Given the description of an element on the screen output the (x, y) to click on. 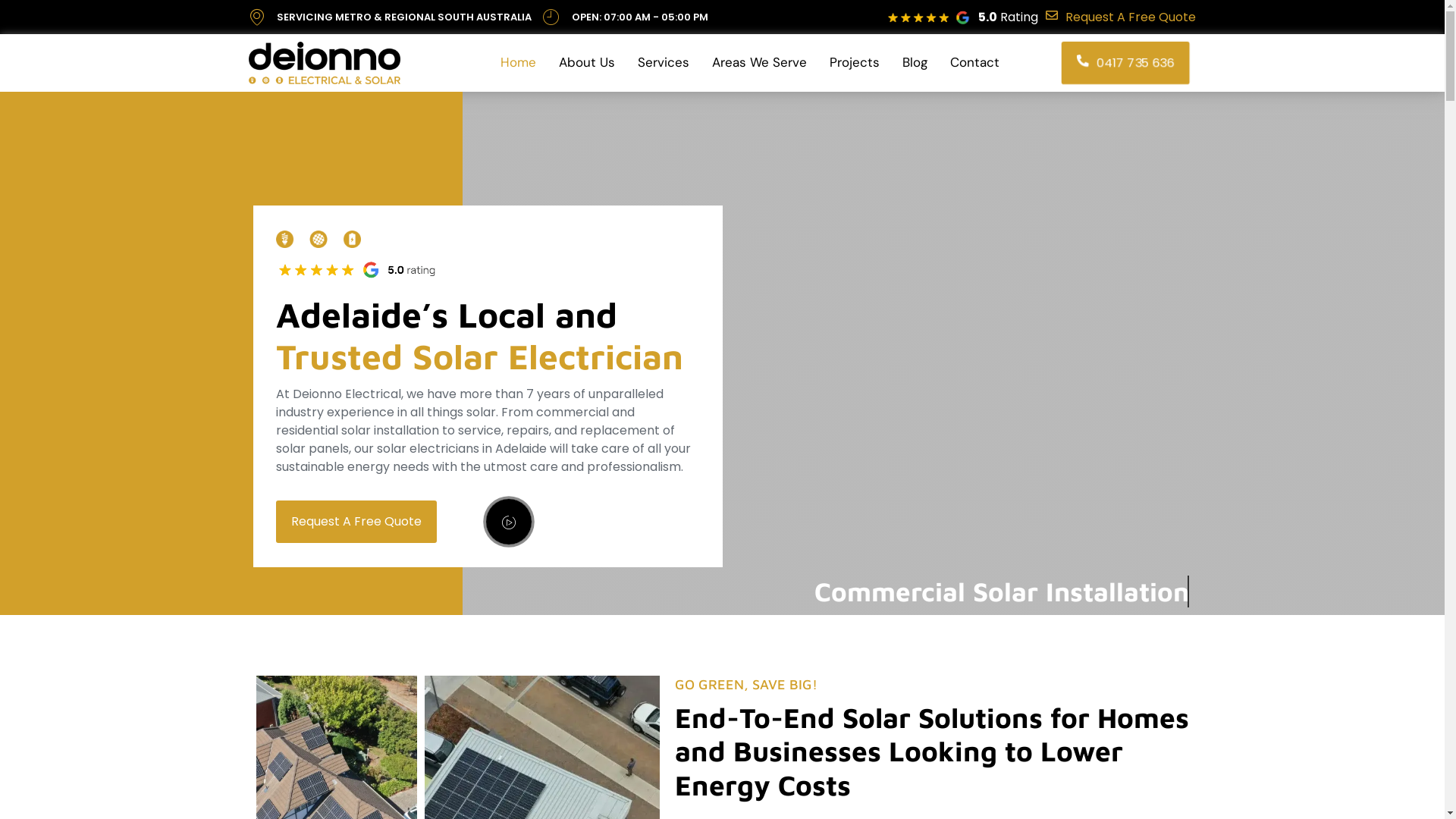
About Us Element type: text (586, 62)
Request A Free Quote Element type: text (1120, 17)
Solar Electrician Adelaide - Homepage 1 Element type: hover (318, 238)
Projects Element type: text (854, 62)
5.0 Rating Element type: text (1008, 16)
Home Element type: text (517, 62)
Request A Free Quote Element type: text (356, 521)
Contact Element type: text (974, 62)
Blog Element type: text (914, 62)
0417 735 636 Element type: text (1124, 62)
Areas We Serve Element type: text (759, 62)
Solar Electrician Adelaide - Homepage 2 Element type: hover (360, 268)
Services Element type: text (663, 62)
